Given the description of an element on the screen output the (x, y) to click on. 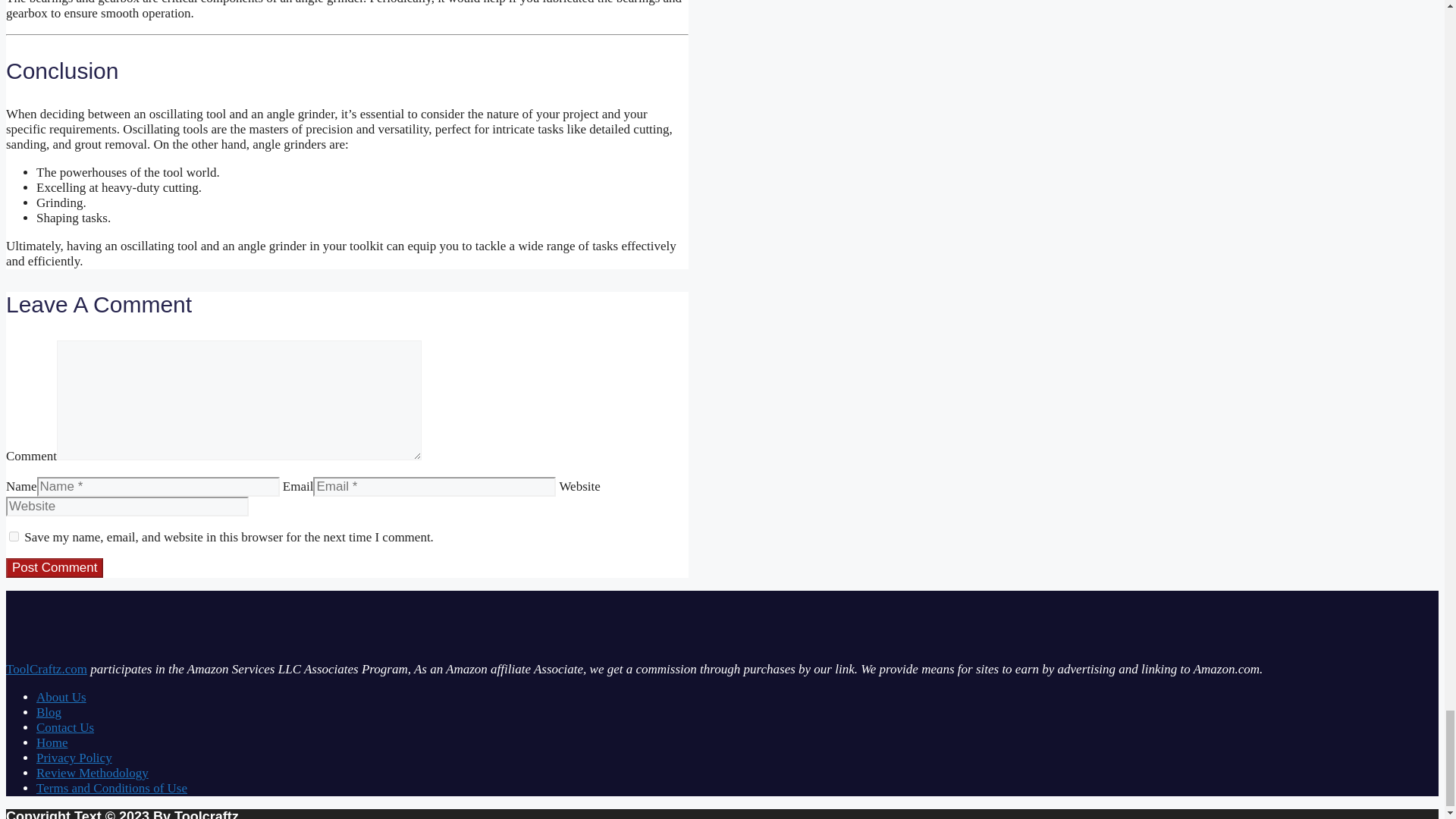
yes (13, 536)
Post Comment (54, 567)
